Given the description of an element on the screen output the (x, y) to click on. 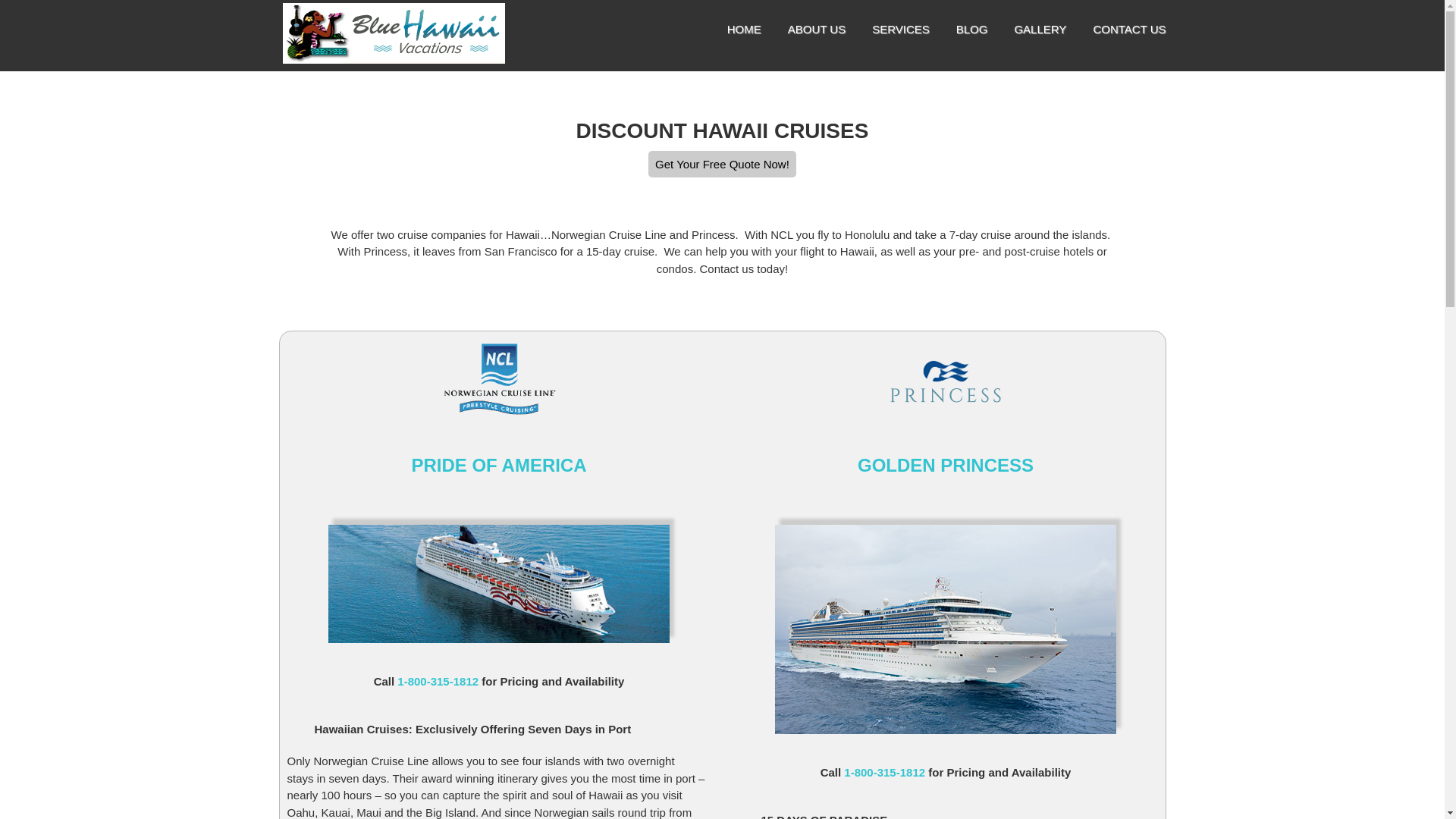
GALLERY (1039, 29)
SERVICES (901, 29)
Search (1232, 409)
CONTACT US (1129, 29)
ABOUT US (816, 29)
Get Your Free Quote Now! (721, 163)
